Given the description of an element on the screen output the (x, y) to click on. 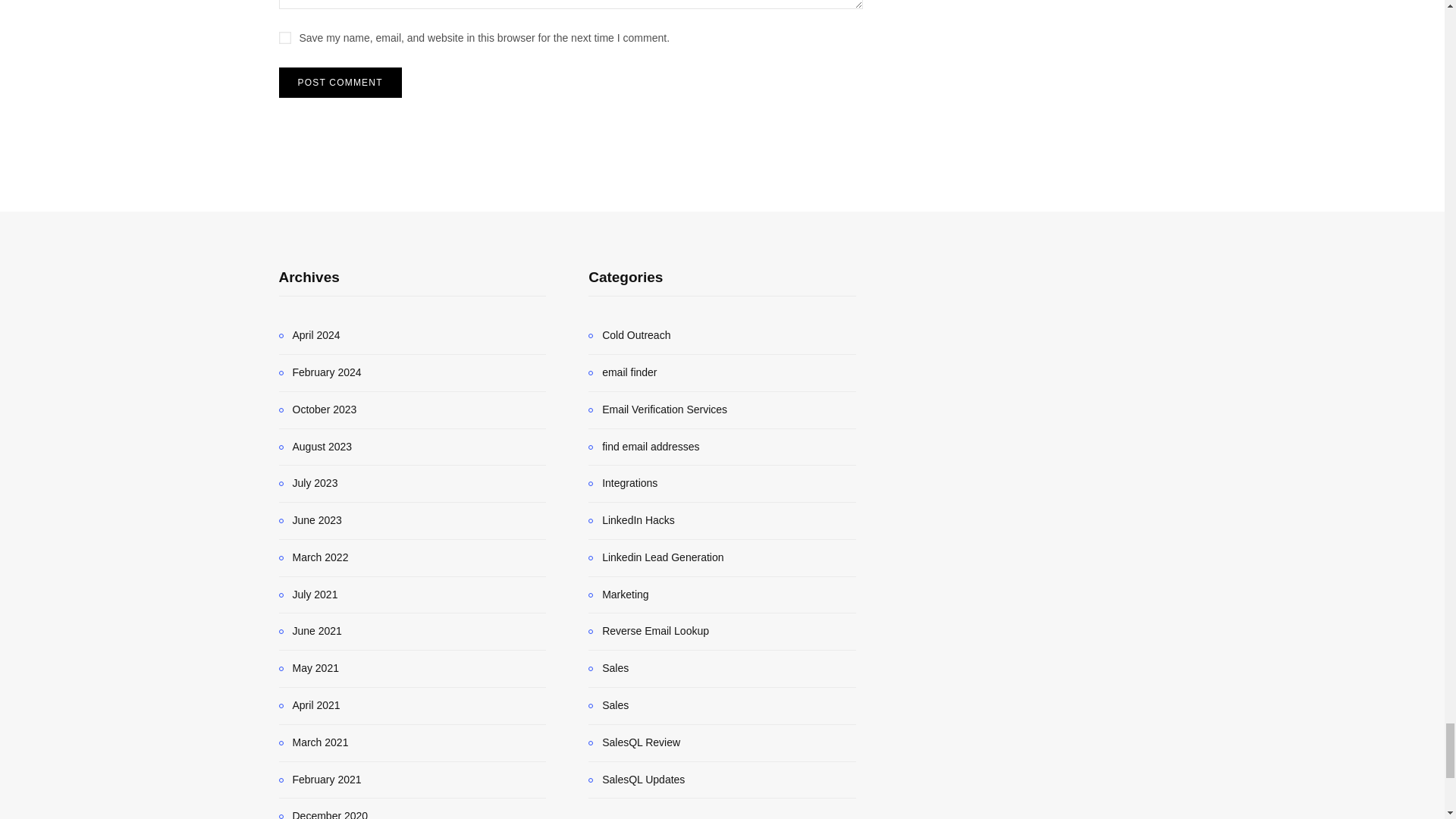
Post Comment (340, 82)
Post Comment (340, 82)
yes (285, 37)
